Given the description of an element on the screen output the (x, y) to click on. 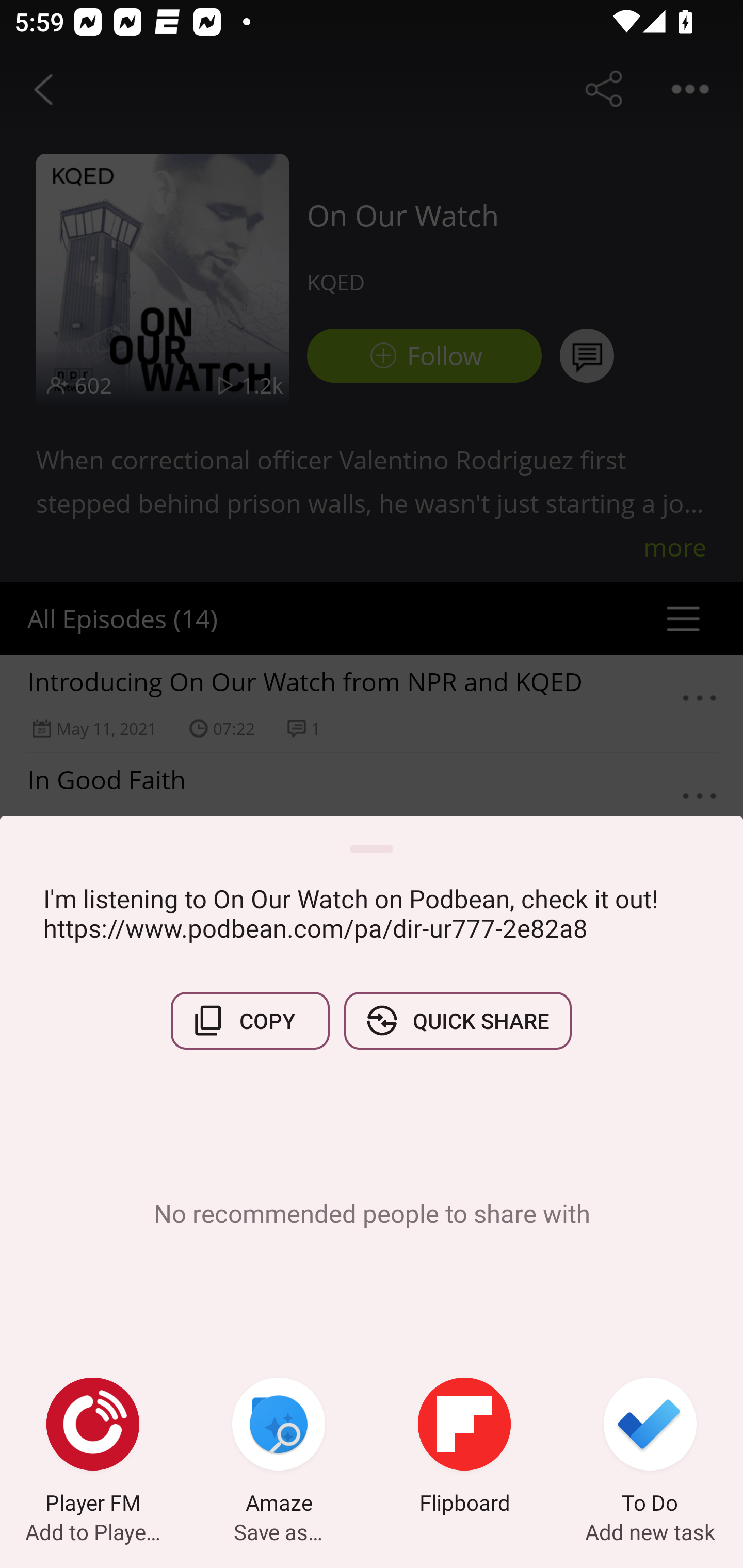
COPY (249, 1020)
QUICK SHARE (457, 1020)
Player FM Add to Player FM (92, 1448)
Amaze Save as… (278, 1448)
Flipboard (464, 1448)
To Do Add new task (650, 1448)
